Given the description of an element on the screen output the (x, y) to click on. 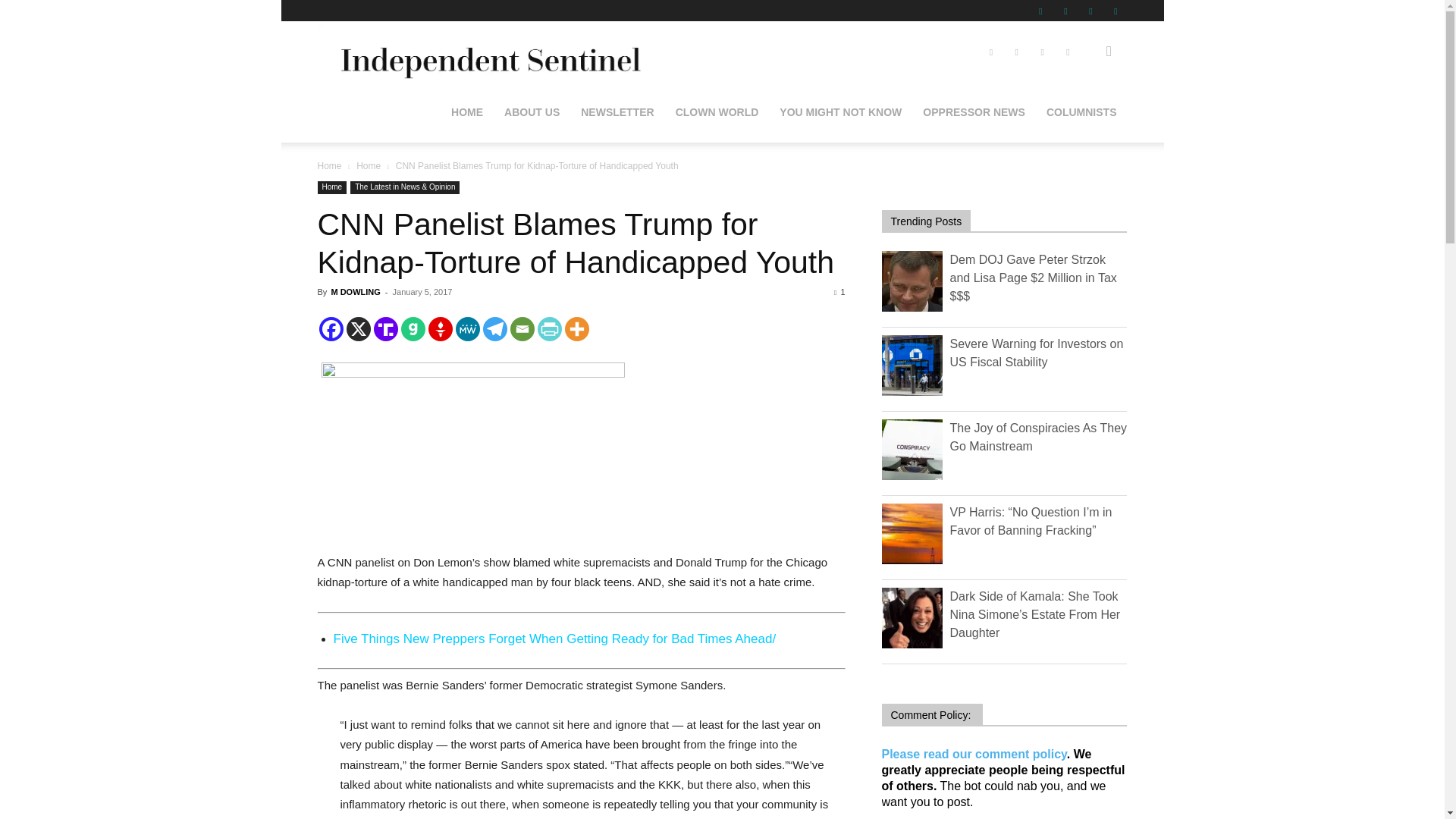
Search (1085, 124)
Youtube (1114, 10)
www.independentsentinel.com (487, 51)
OPPRESSOR NEWS (973, 111)
ABOUT US (531, 111)
YOU MIGHT NOT KNOW (840, 111)
Facebook (1040, 10)
Twitter (1090, 10)
CLOWN WORLD (717, 111)
NEWSLETTER (616, 111)
Pinterest (1065, 10)
